Given the description of an element on the screen output the (x, y) to click on. 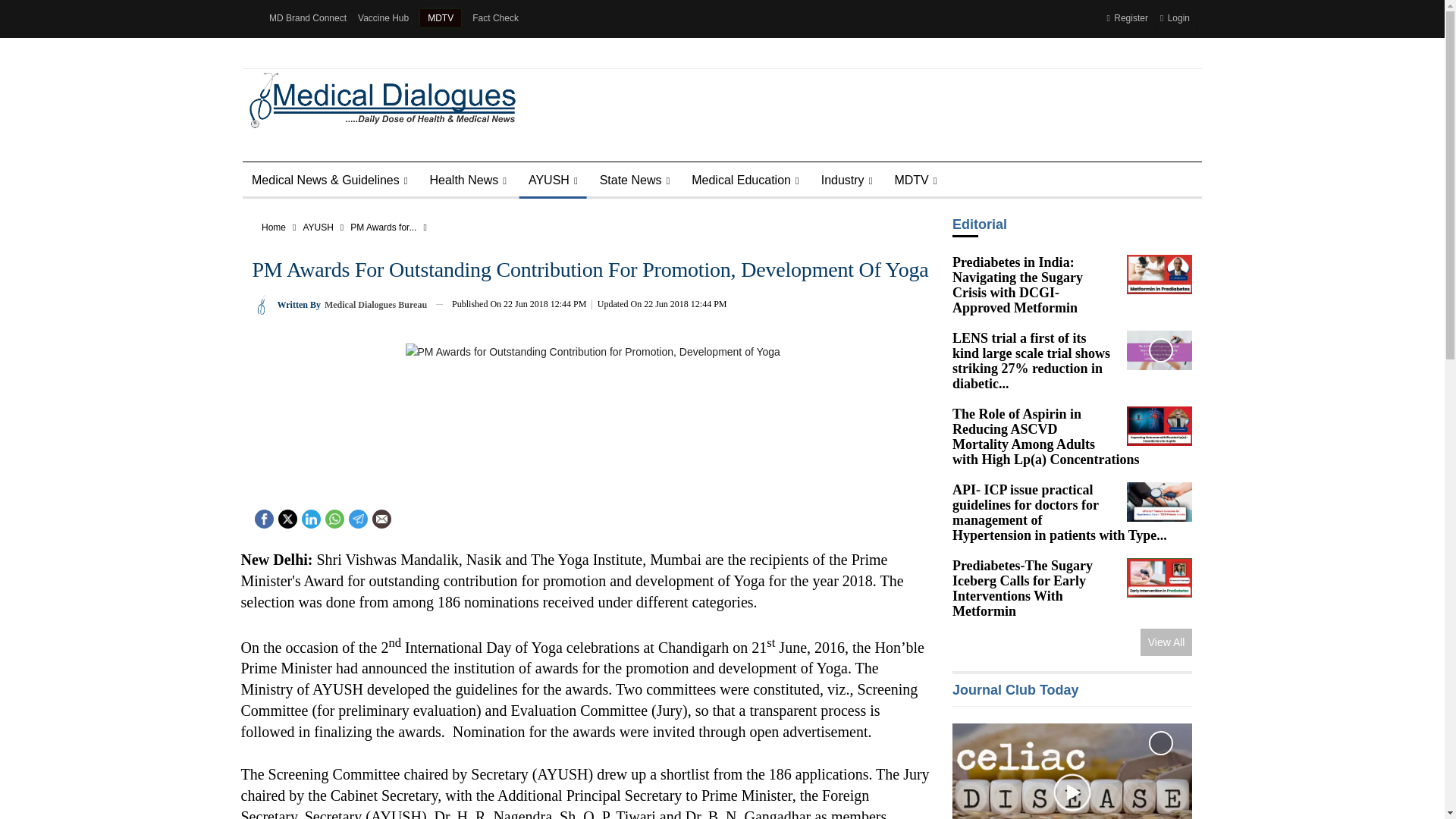
Vaccine Hub (383, 18)
whatsapp (334, 518)
Fact Check (494, 18)
Facebook (263, 517)
Twitter (287, 517)
linkedin (309, 518)
Share by Email (381, 518)
MD Brand Connect (307, 18)
Medical Dialogues (378, 98)
